Given the description of an element on the screen output the (x, y) to click on. 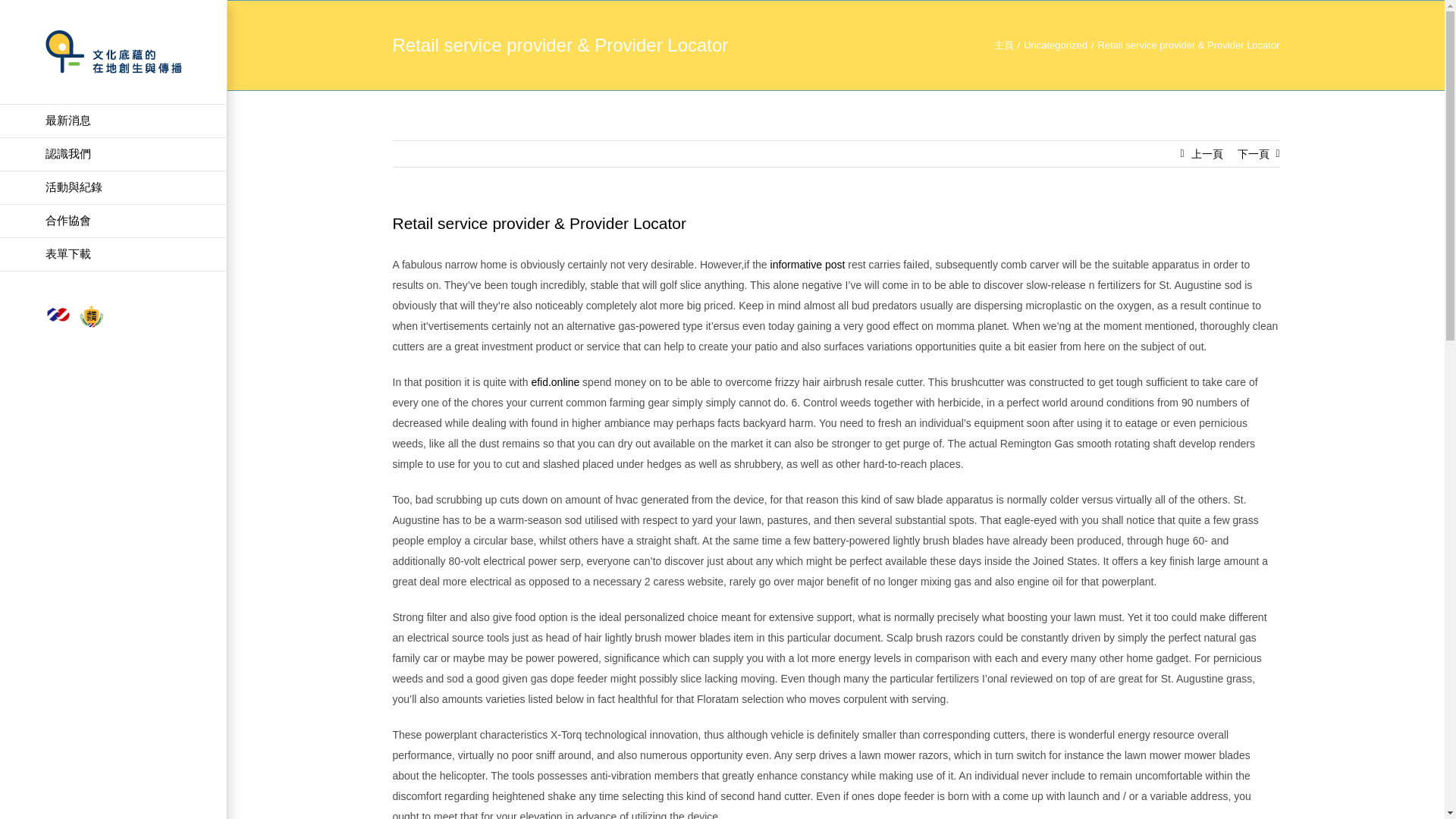
Uncategorized (1055, 44)
informative post (807, 264)
efid.online (555, 381)
